Given the description of an element on the screen output the (x, y) to click on. 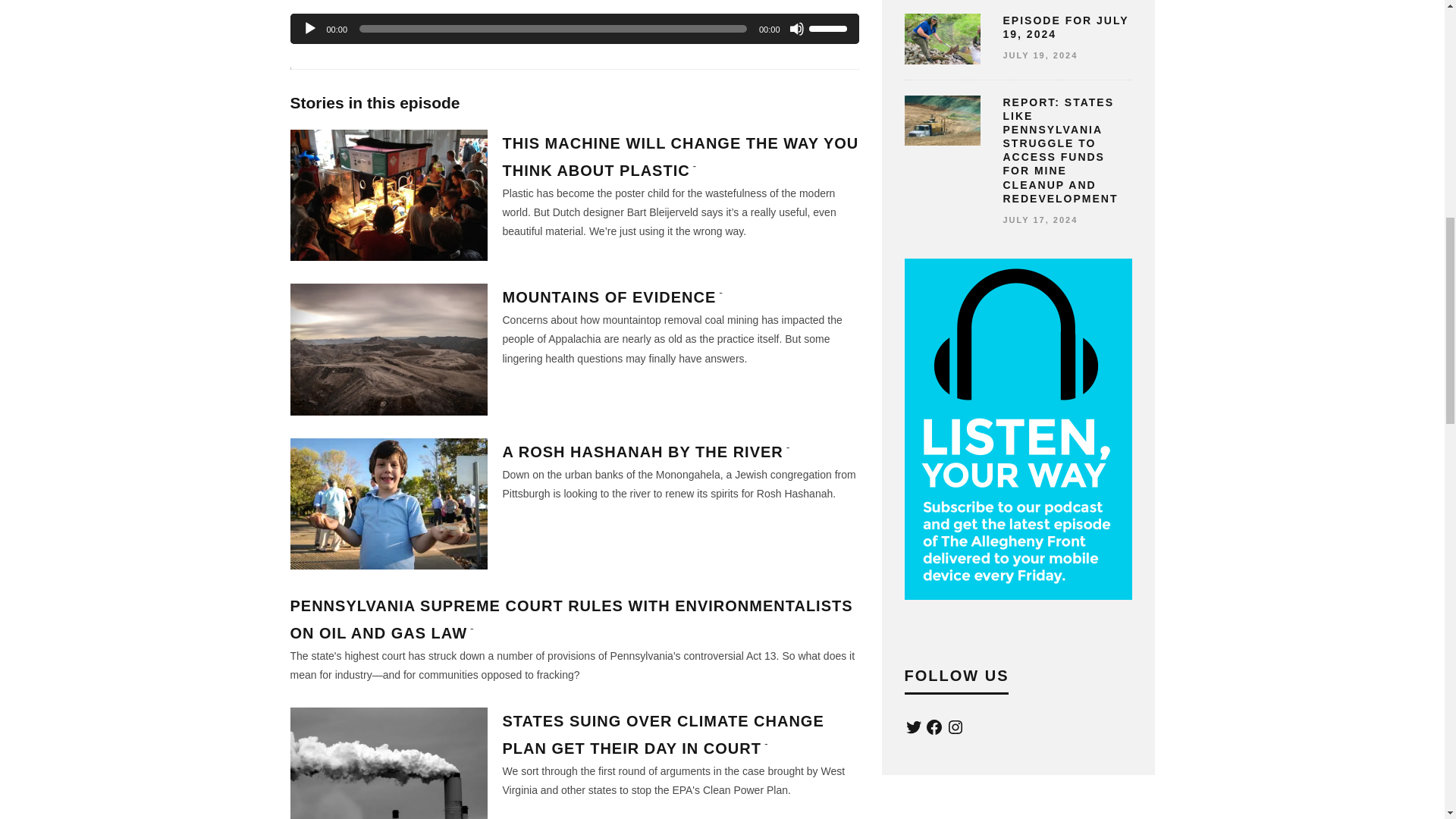
Play (309, 28)
Mute (796, 28)
